Given the description of an element on the screen output the (x, y) to click on. 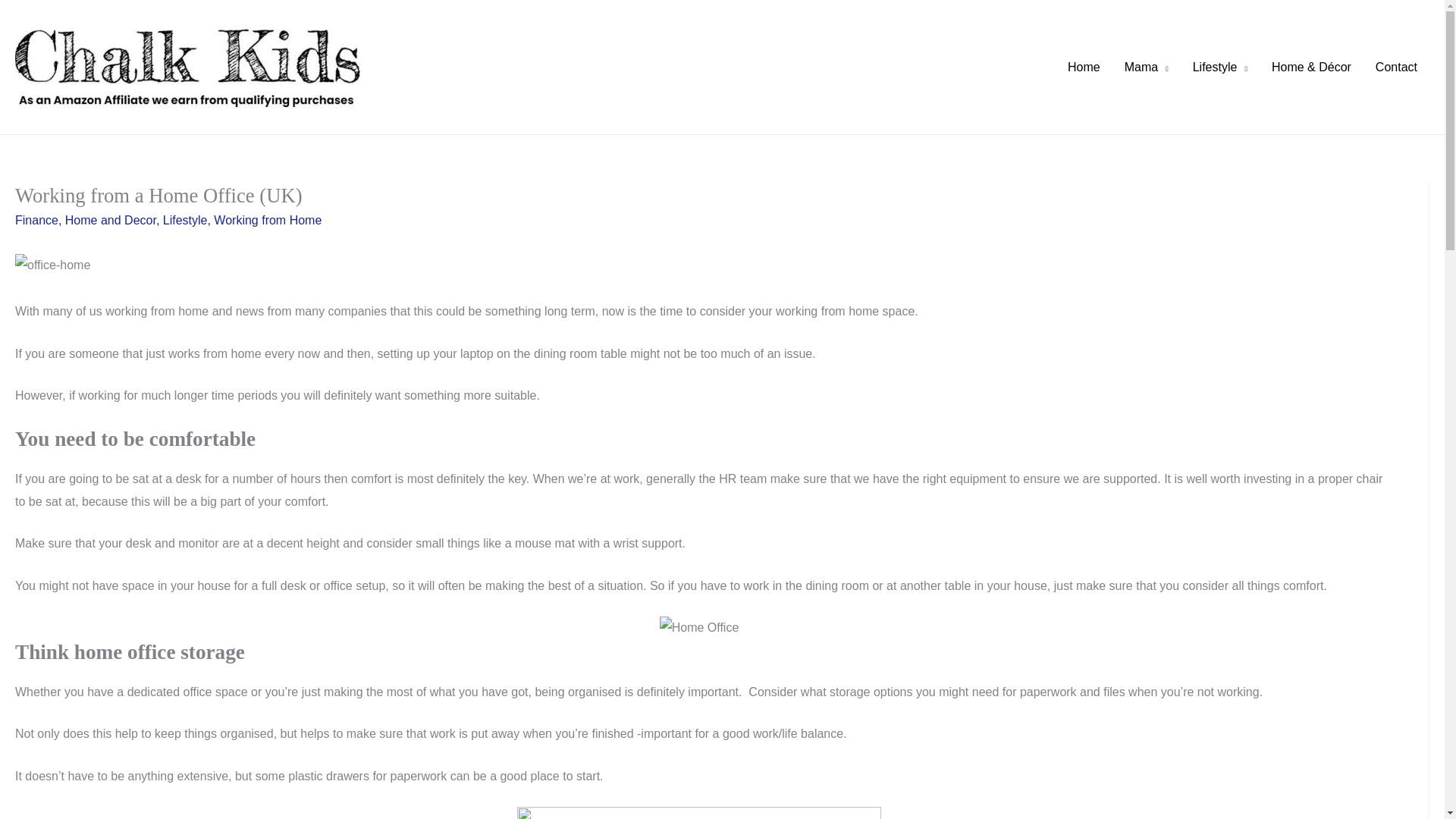
Contact (1395, 66)
Home and Decor (110, 219)
Lifestyle (1219, 66)
Mama (1146, 66)
Finance (36, 219)
Working from Home (267, 219)
Home (1083, 66)
Lifestyle (185, 219)
